Given the description of an element on the screen output the (x, y) to click on. 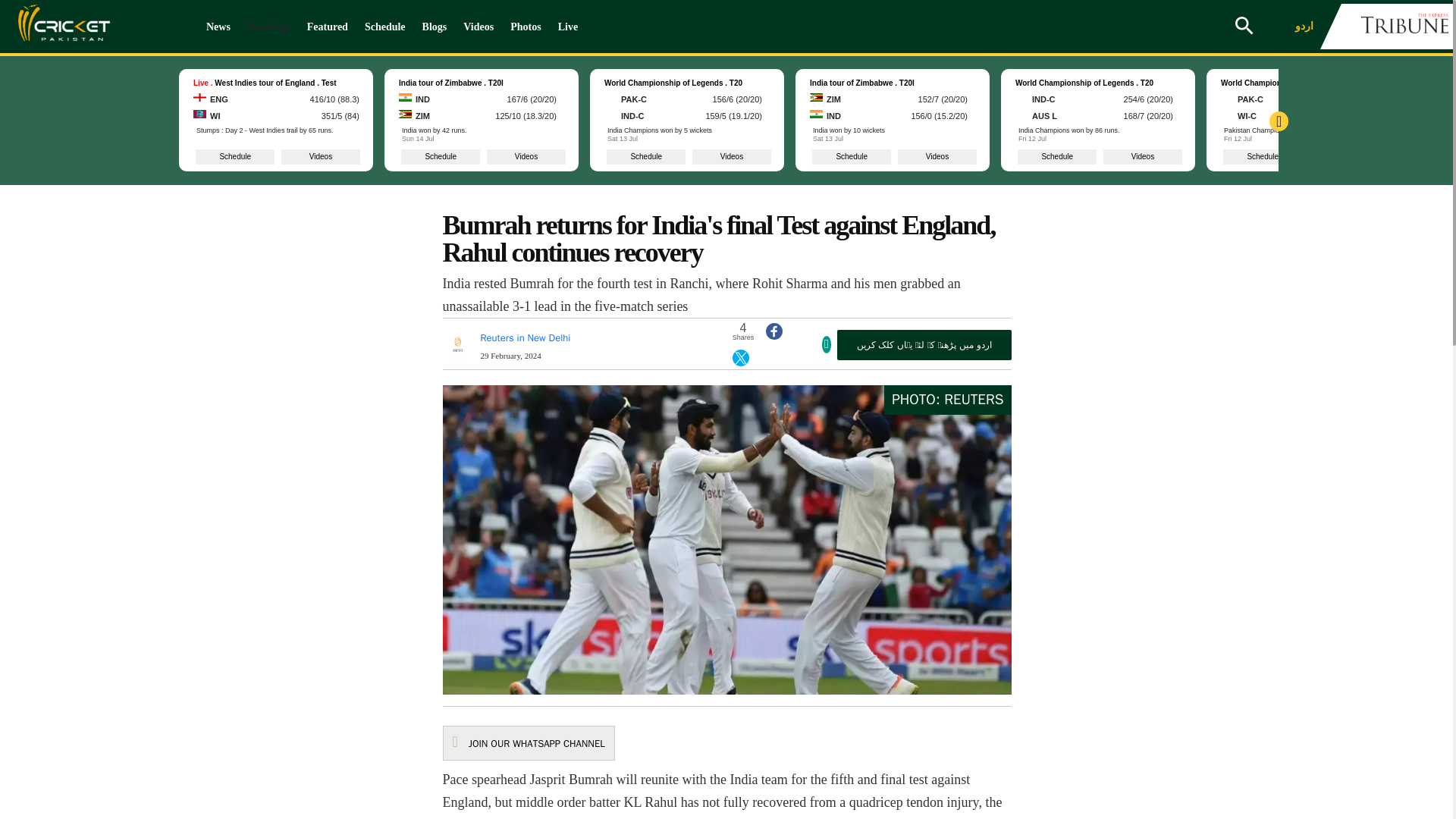
Rankings (269, 26)
Videos (477, 26)
Photos (525, 26)
Featured (327, 26)
Schedule (384, 26)
